Given the description of an element on the screen output the (x, y) to click on. 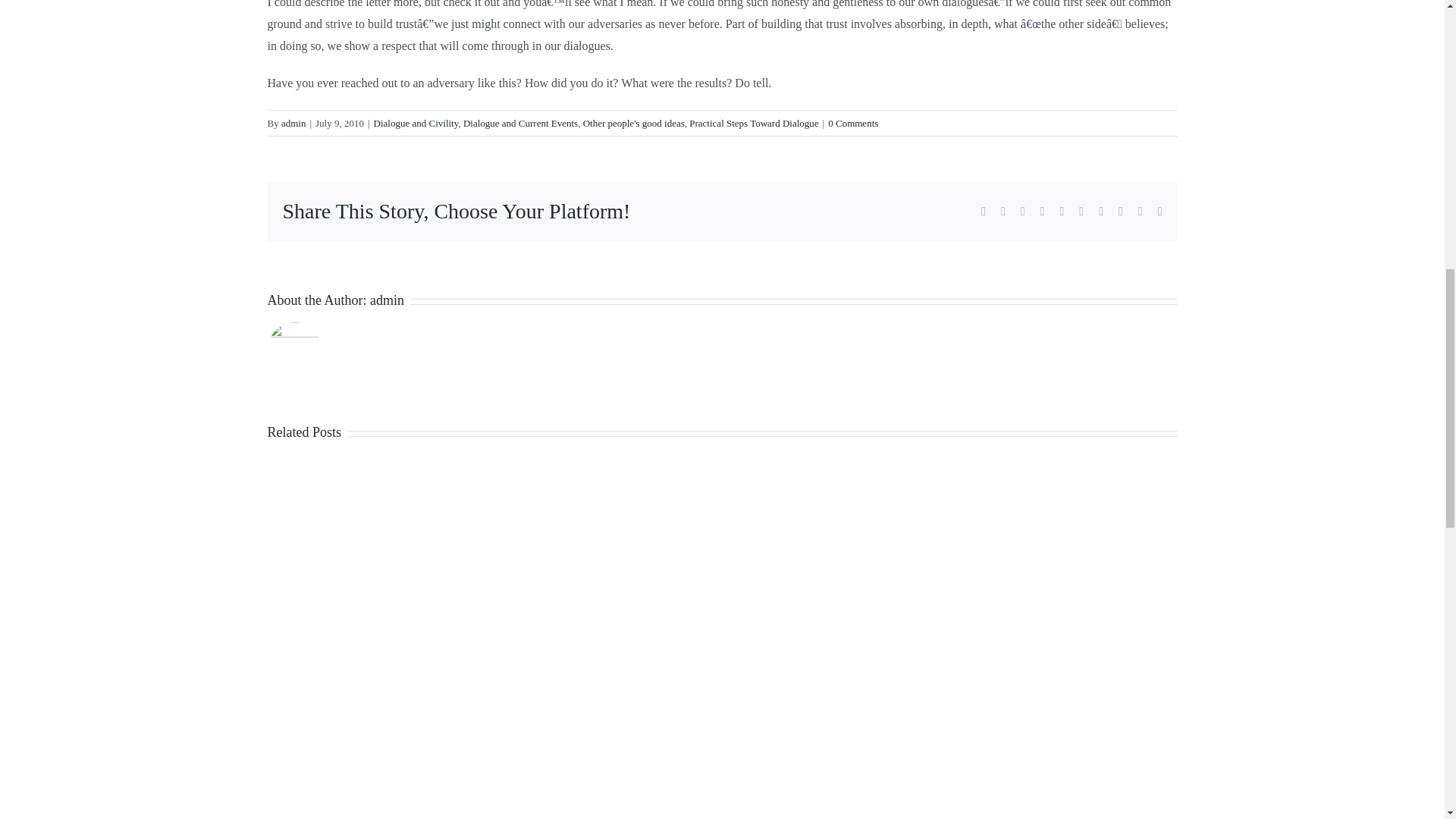
admin (293, 122)
Other people's good ideas (633, 122)
Posts by admin (293, 122)
0 Comments (852, 122)
Practical Steps Toward Dialogue (753, 122)
Dialogue and Civility (416, 122)
Dialogue and Current Events (520, 122)
